Given the description of an element on the screen output the (x, y) to click on. 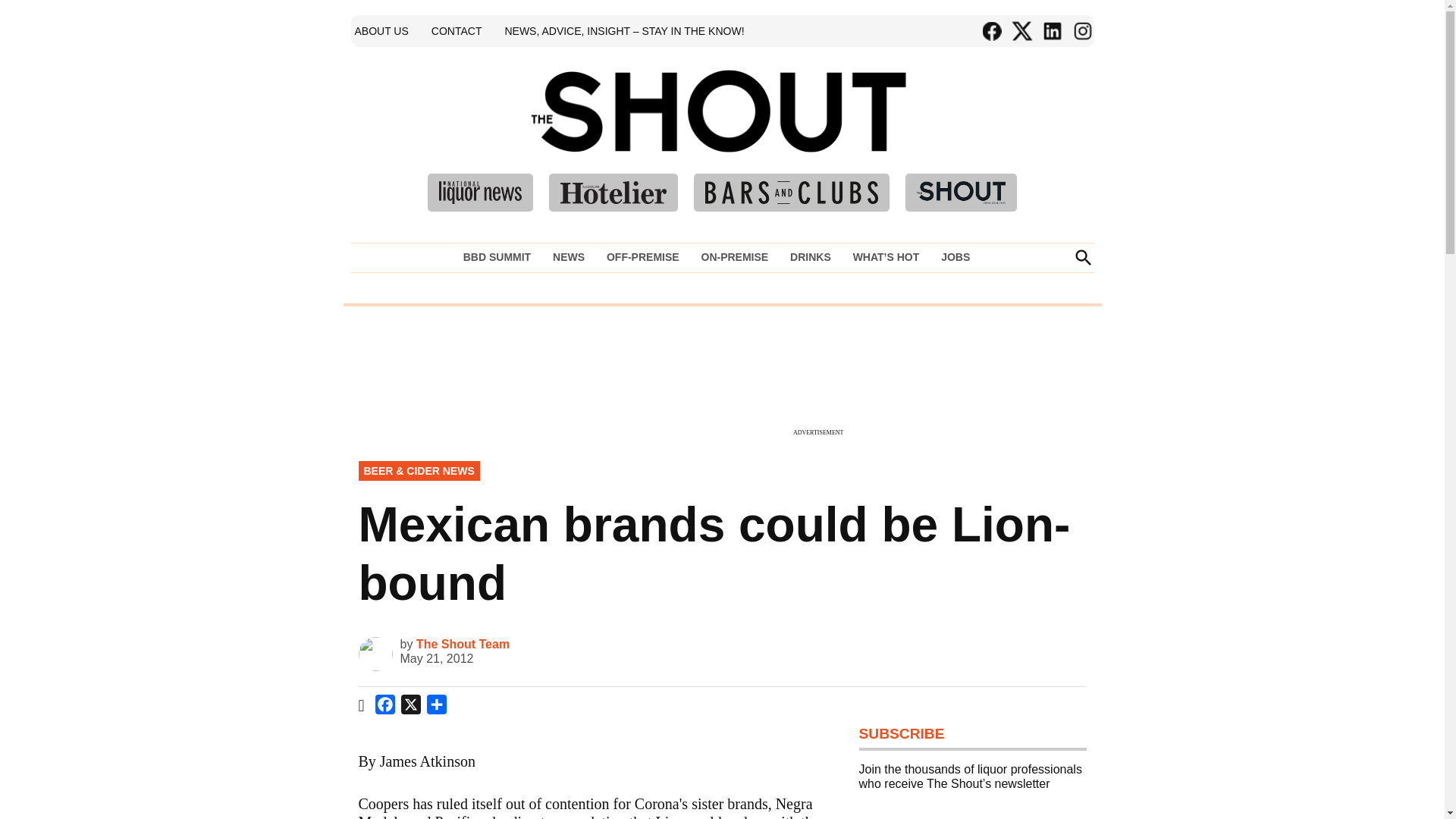
Facebook (384, 707)
BBD SUMMIT (500, 256)
OFF-PREMISE (642, 256)
ON-PREMISE (734, 256)
ABOUT US (381, 30)
NEWS (568, 256)
X (410, 707)
Twitter (1021, 31)
The Shout (939, 133)
Facebook (991, 31)
